Given the description of an element on the screen output the (x, y) to click on. 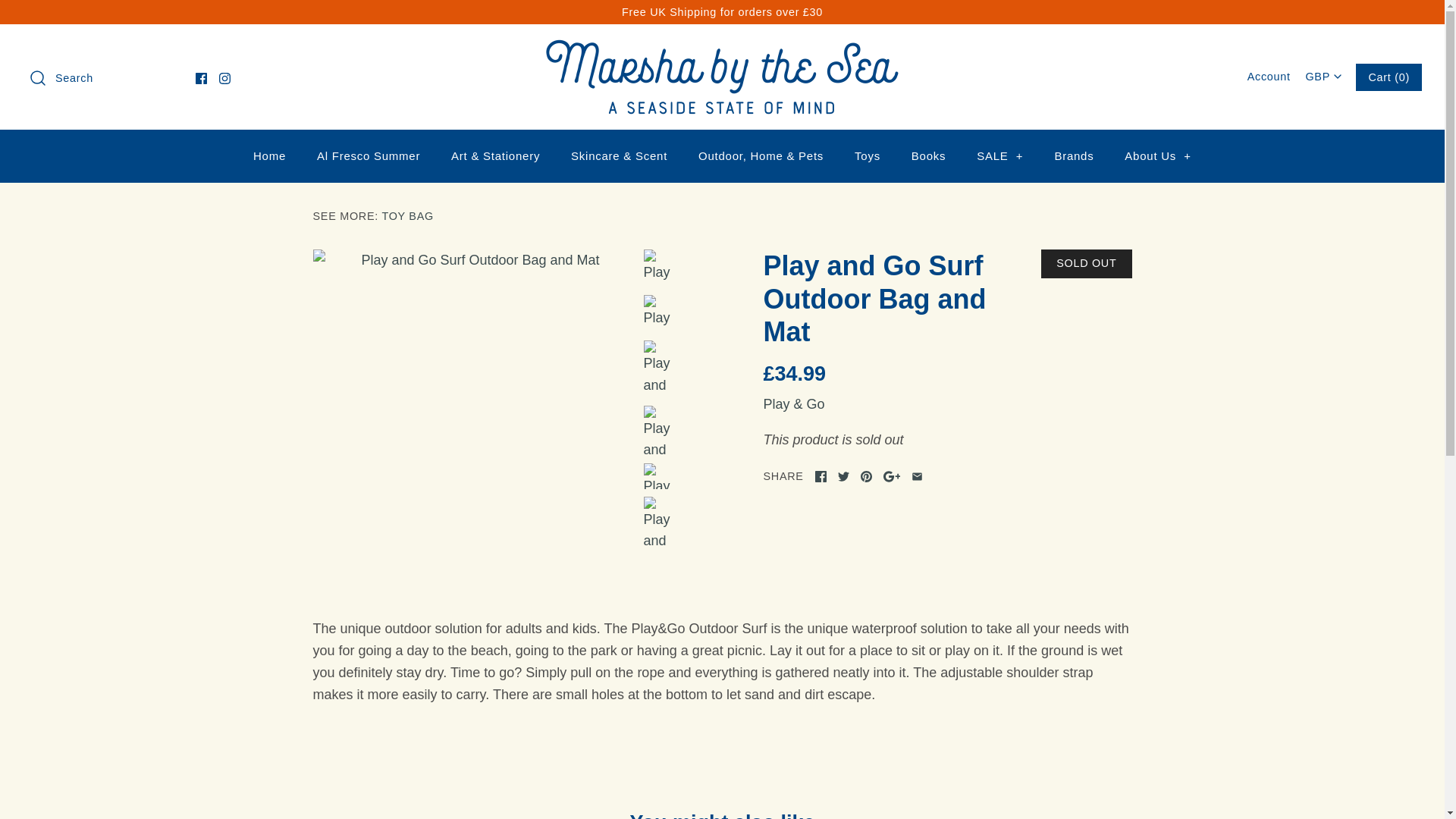
Instagram (224, 78)
Play and Go Surf Outdoor Bag and Mat (662, 475)
Facebook (200, 78)
Share using email (917, 476)
Books (928, 156)
Marsha By The Sea (721, 49)
GooglePlus (891, 476)
TOY BAG (407, 215)
Twitter (843, 476)
Share on Twitter (843, 476)
Toys (867, 156)
Pinterest (866, 476)
Home (269, 156)
Account (1268, 76)
Al Fresco Summer (367, 156)
